Given the description of an element on the screen output the (x, y) to click on. 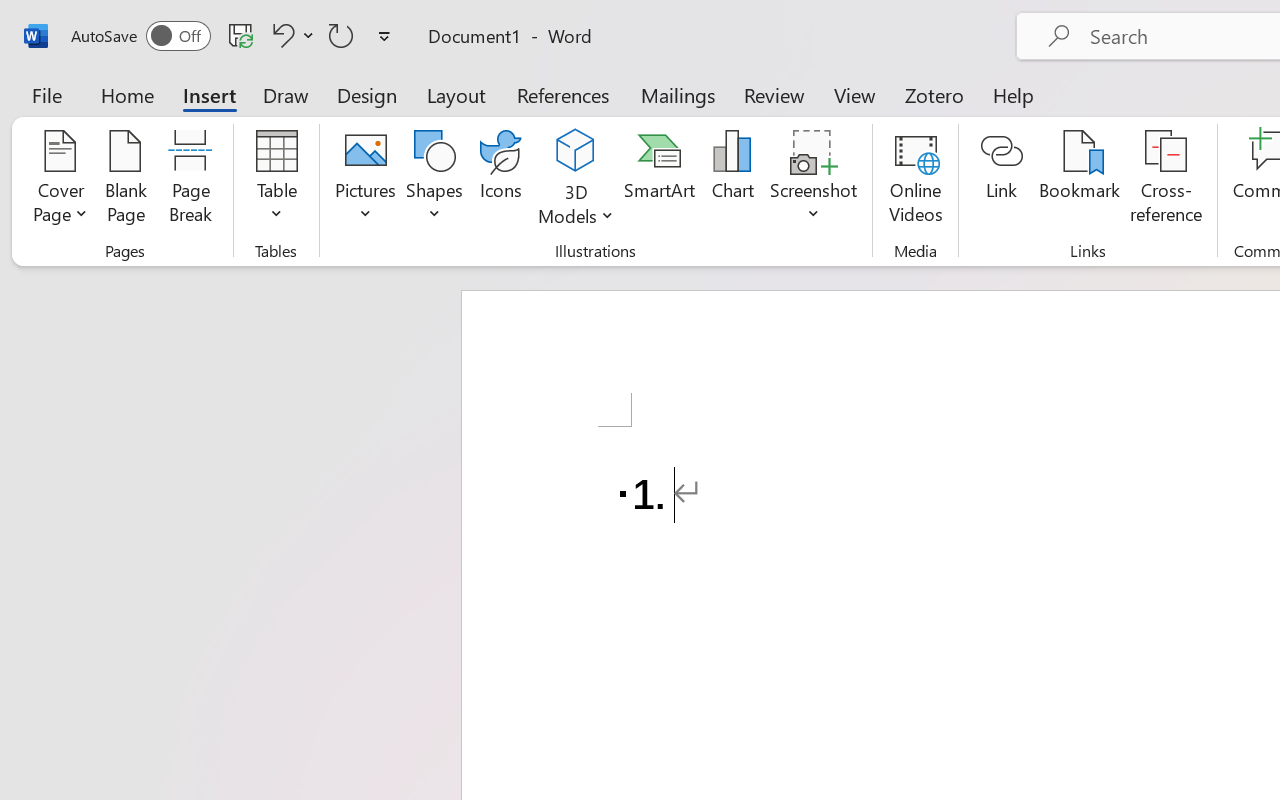
Pictures (365, 179)
Repeat Doc Close (341, 35)
Undo Number Default (290, 35)
Blank Page (125, 179)
Screenshot (813, 179)
Link (1001, 179)
Online Videos... (915, 179)
